Given the description of an element on the screen output the (x, y) to click on. 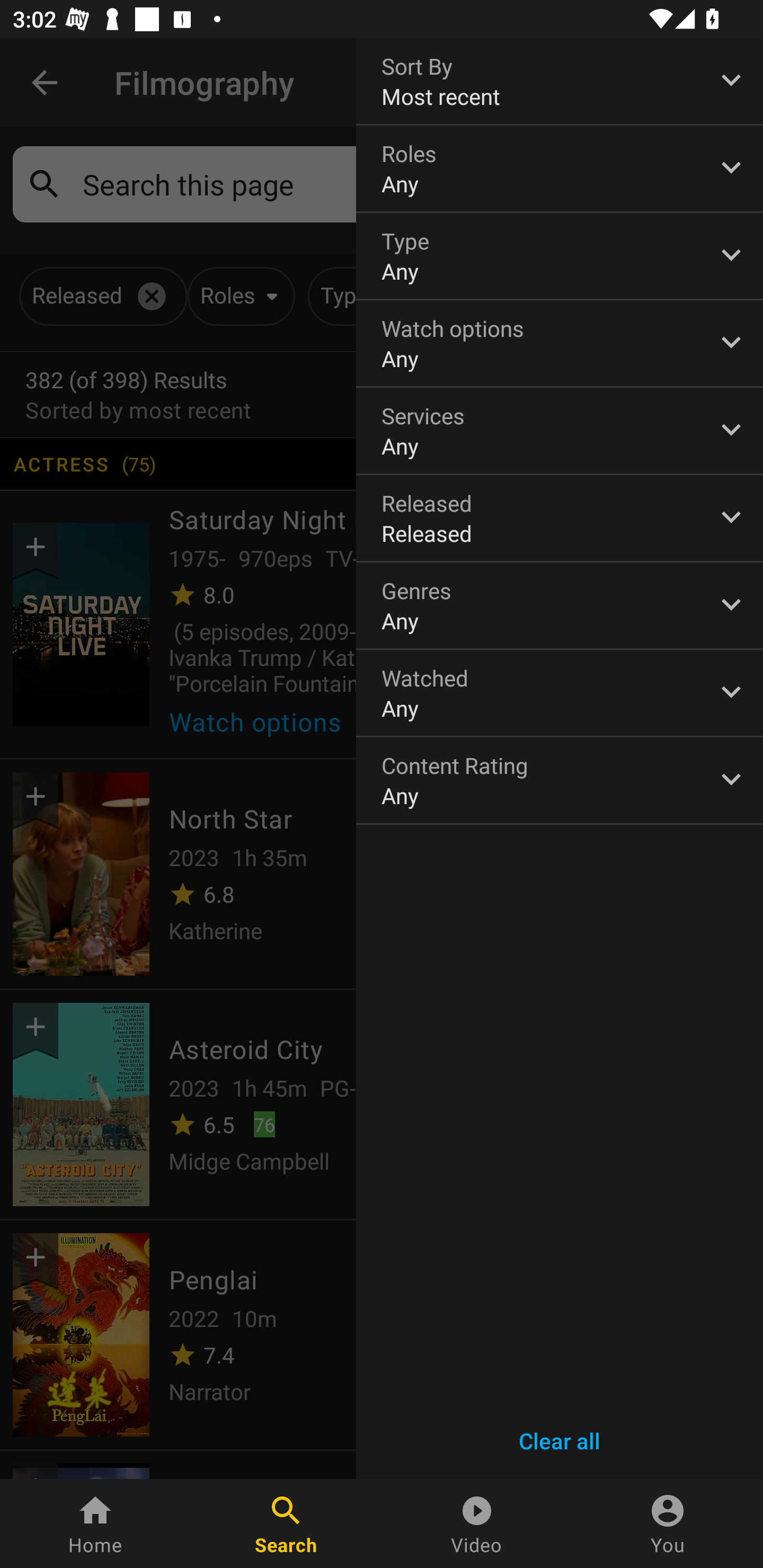
Sort By Most recent (559, 80)
Roles Any (559, 168)
Type Any (559, 256)
Watch options Any (559, 343)
Services Any (559, 430)
Released (559, 518)
Watched Any (559, 692)
Content Rating Any (559, 779)
Clear all (559, 1440)
Home (95, 1523)
Video (476, 1523)
You (667, 1523)
